Given the description of an element on the screen output the (x, y) to click on. 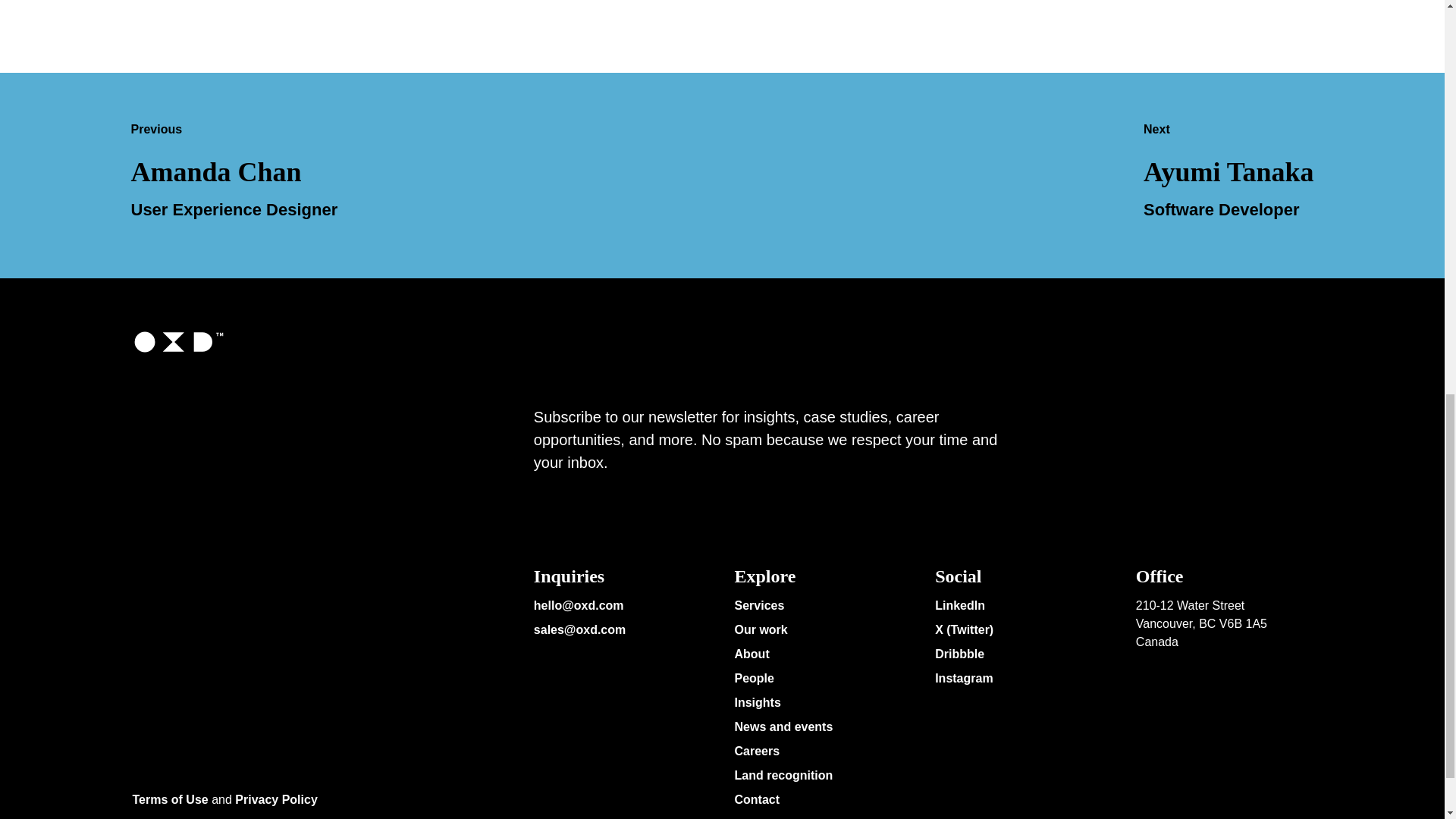
Amanda Chan (216, 174)
Services (758, 607)
Our work (760, 631)
Ayumi Tanaka (1227, 174)
About (750, 656)
